Given the description of an element on the screen output the (x, y) to click on. 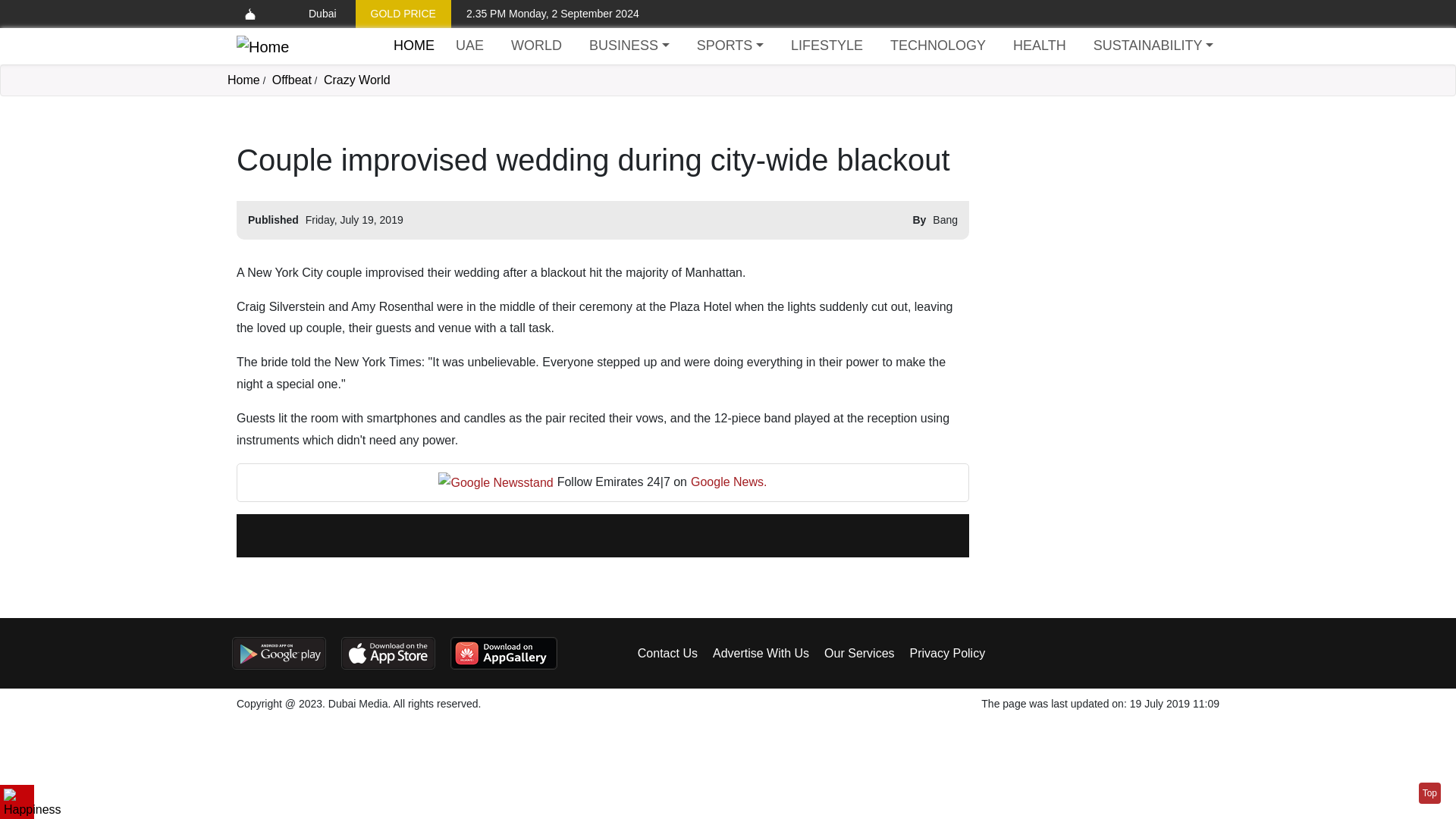
TECHNOLOGY (937, 46)
Offbeat (291, 79)
HEALTH (1039, 46)
SPORTS (730, 46)
LIFESTYLE (826, 46)
HOME (413, 45)
WORLD (536, 46)
Home (243, 79)
Google News. (728, 482)
UAE (469, 46)
